Given the description of an element on the screen output the (x, y) to click on. 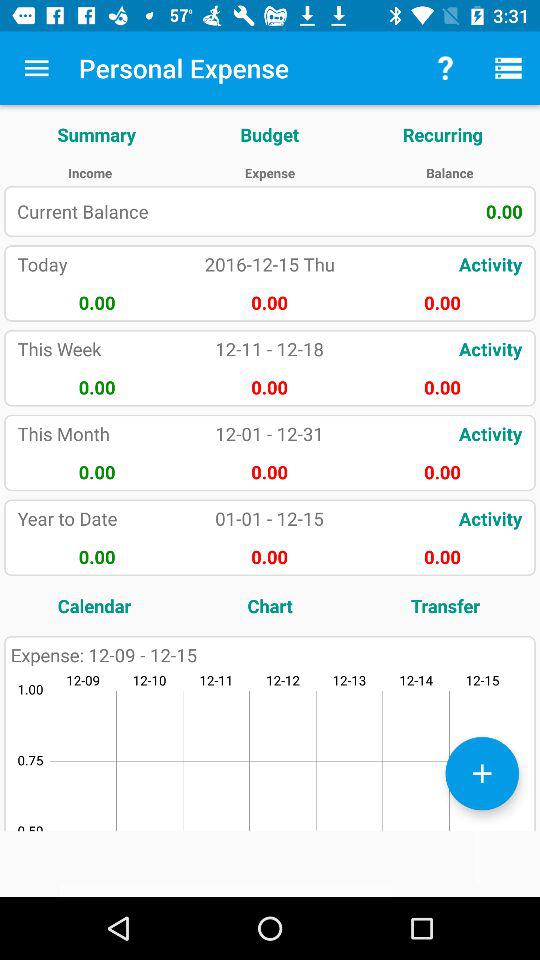
turn on item above recurring icon (444, 67)
